Given the description of an element on the screen output the (x, y) to click on. 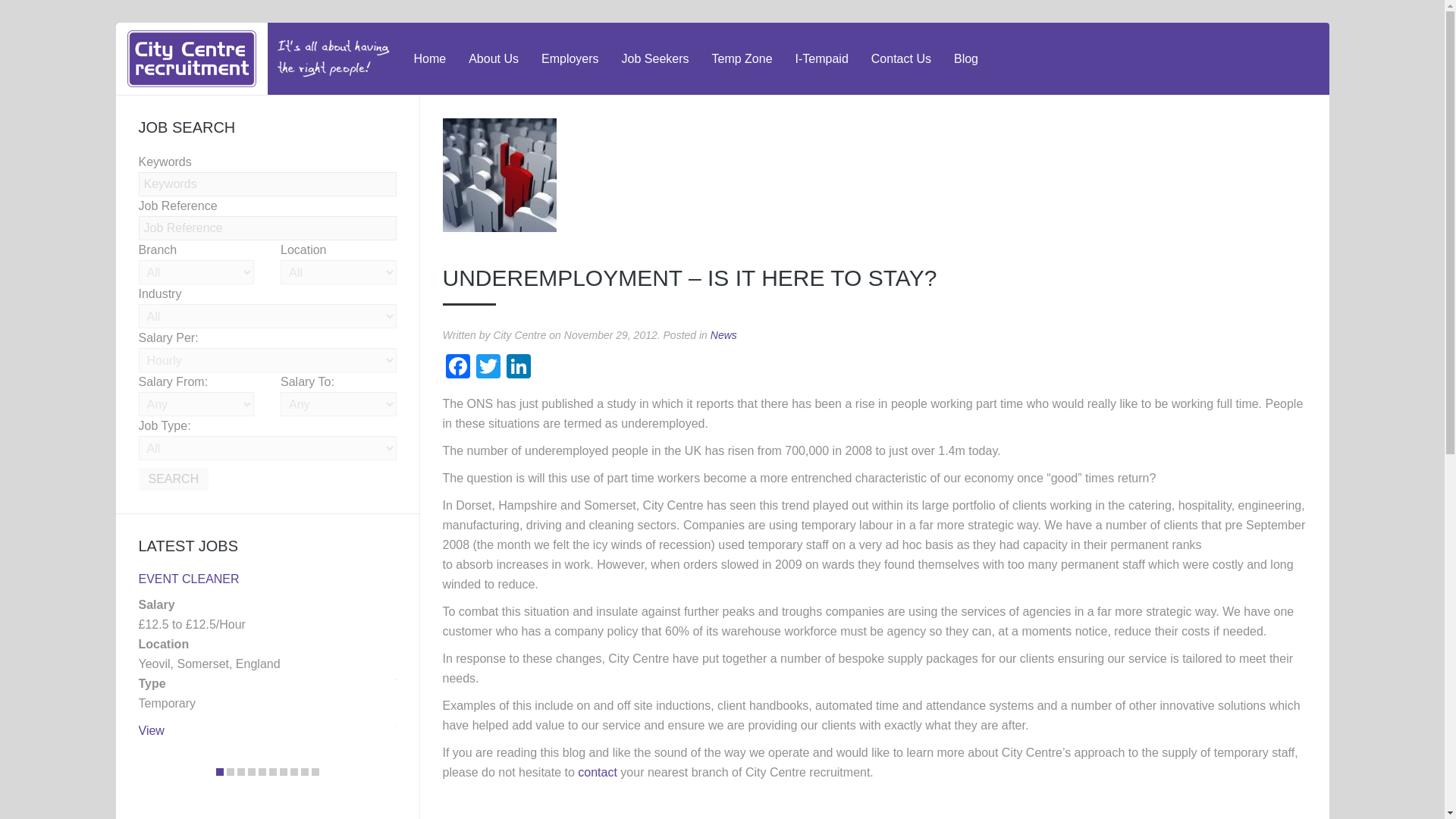
contact (597, 771)
Contact us (597, 771)
LinkedIn (518, 367)
Facebook (457, 367)
Event Cleaner (188, 578)
LinkedIn (518, 367)
Twitter (488, 367)
Search (173, 478)
Event Cleaner (150, 730)
Job Seekers (654, 58)
